Given the description of an element on the screen output the (x, y) to click on. 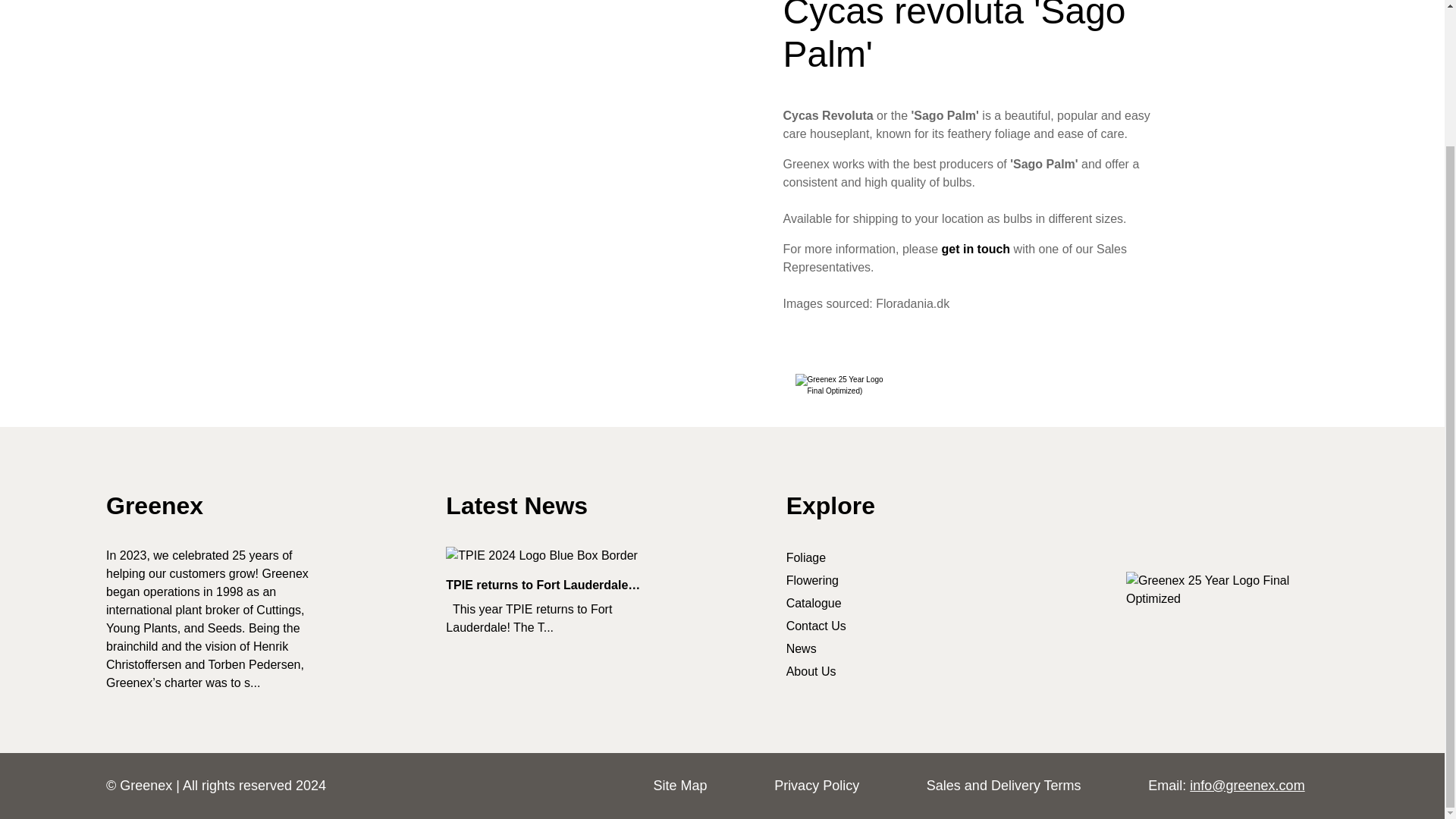
Privacy Policy (816, 785)
TPIE returns to Fort Lauderdale 2024! (551, 618)
Contact Us (975, 248)
get in touch (975, 248)
TPIE returns to Fort Lauderdale 2024! (551, 585)
  This year TPIE returns to Fort Lauderdale! The T... (551, 618)
TPIE returns to Fort Lauderdale 2024! (551, 556)
Flowering (812, 580)
News (801, 648)
Site Map (679, 785)
